Given the description of an element on the screen output the (x, y) to click on. 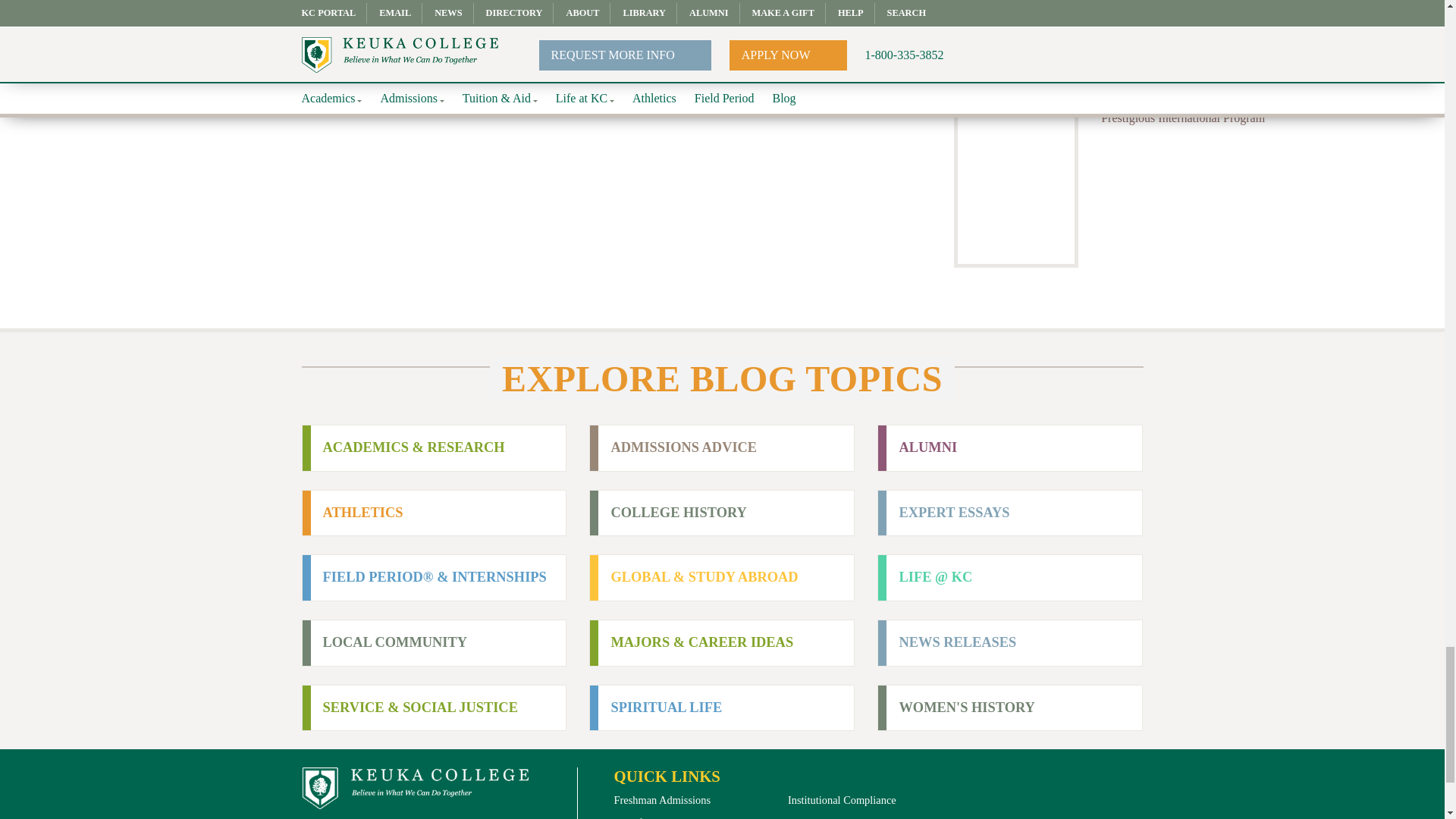
Keuka College Dean Recognized for Student-Centered Work (1015, 61)
Keuka College Dean Recognized for Student-Centered Work (1236, 62)
